Given the description of an element on the screen output the (x, y) to click on. 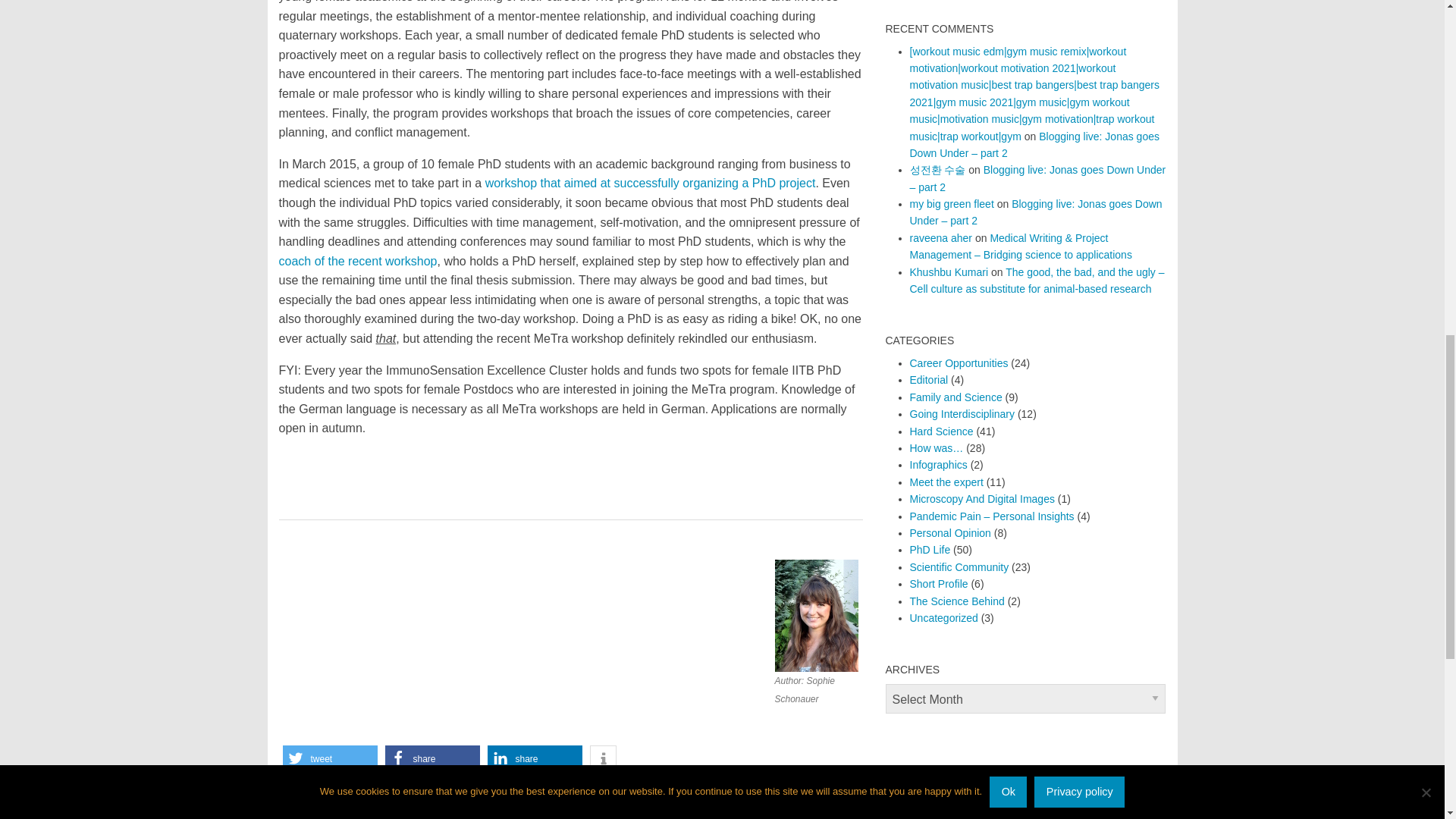
Share on Twitter (329, 758)
coach of the recent workshop (358, 260)
Share on Facebook (432, 758)
share  (432, 758)
workshop (377, 792)
workshop that aimed at successfully organizing a PhD project (649, 182)
share  (533, 758)
More information (602, 758)
tweet  (329, 758)
women (338, 792)
Share on LinkedIn (533, 758)
MeTra (306, 792)
